Given the description of an element on the screen output the (x, y) to click on. 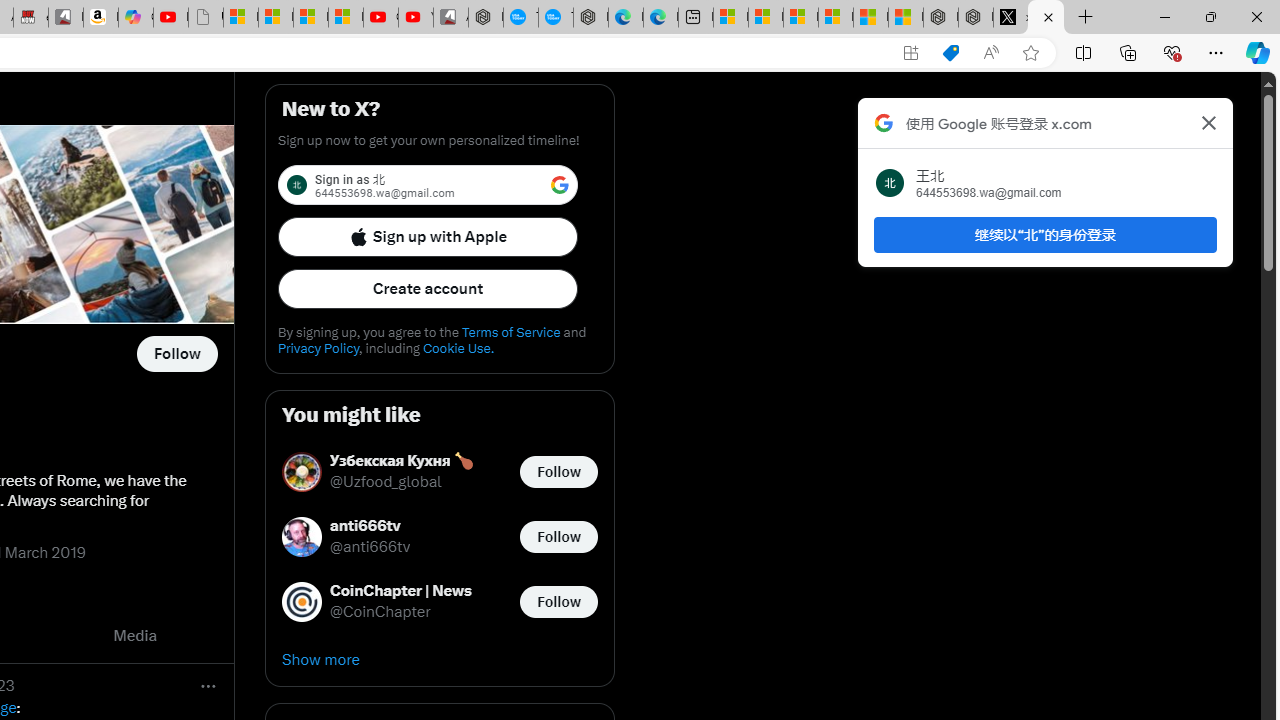
Nordace - My Account (485, 17)
App available. Install X (910, 53)
anti666tv (370, 526)
Follow @NordaceOfficial (176, 354)
anti666tv @anti666tv Follow @anti666tv (440, 536)
Class: Bz112c Bz112c-r9oPif (1208, 122)
@CoinChapter (380, 611)
